Given the description of an element on the screen output the (x, y) to click on. 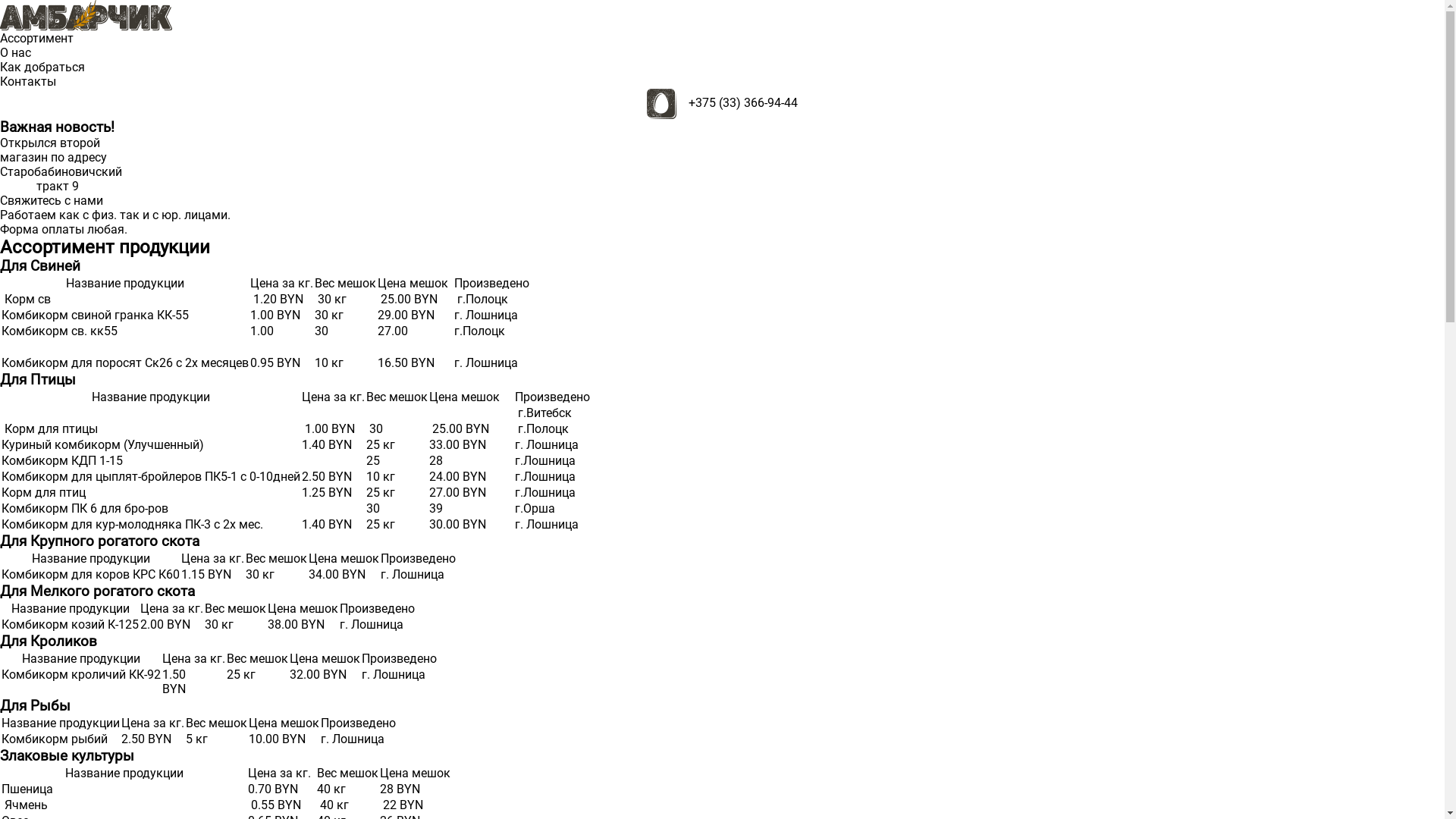
+375 (33) 366-94-44 Element type: text (742, 102)
